Given the description of an element on the screen output the (x, y) to click on. 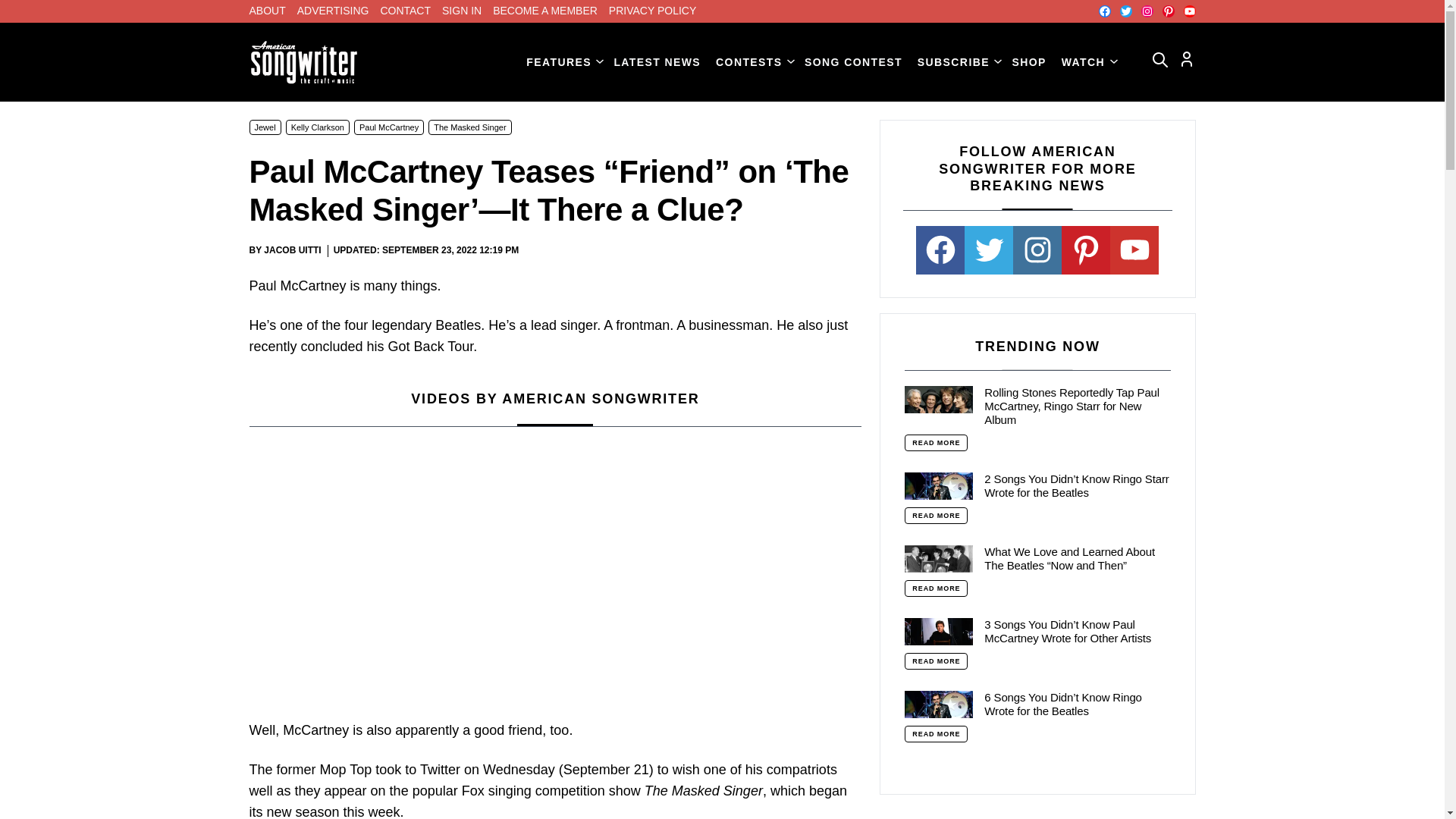
Posts by Jacob Uitti (291, 249)
BECOME A MEMBER (544, 10)
Twitter (1125, 10)
ADVERTISING (333, 10)
ABOUT (266, 10)
CONTACT (405, 10)
September 23, 2022 12:19 pm (449, 250)
Pinterest (1167, 10)
Facebook (1103, 10)
YouTube (1188, 10)
